Given the description of an element on the screen output the (x, y) to click on. 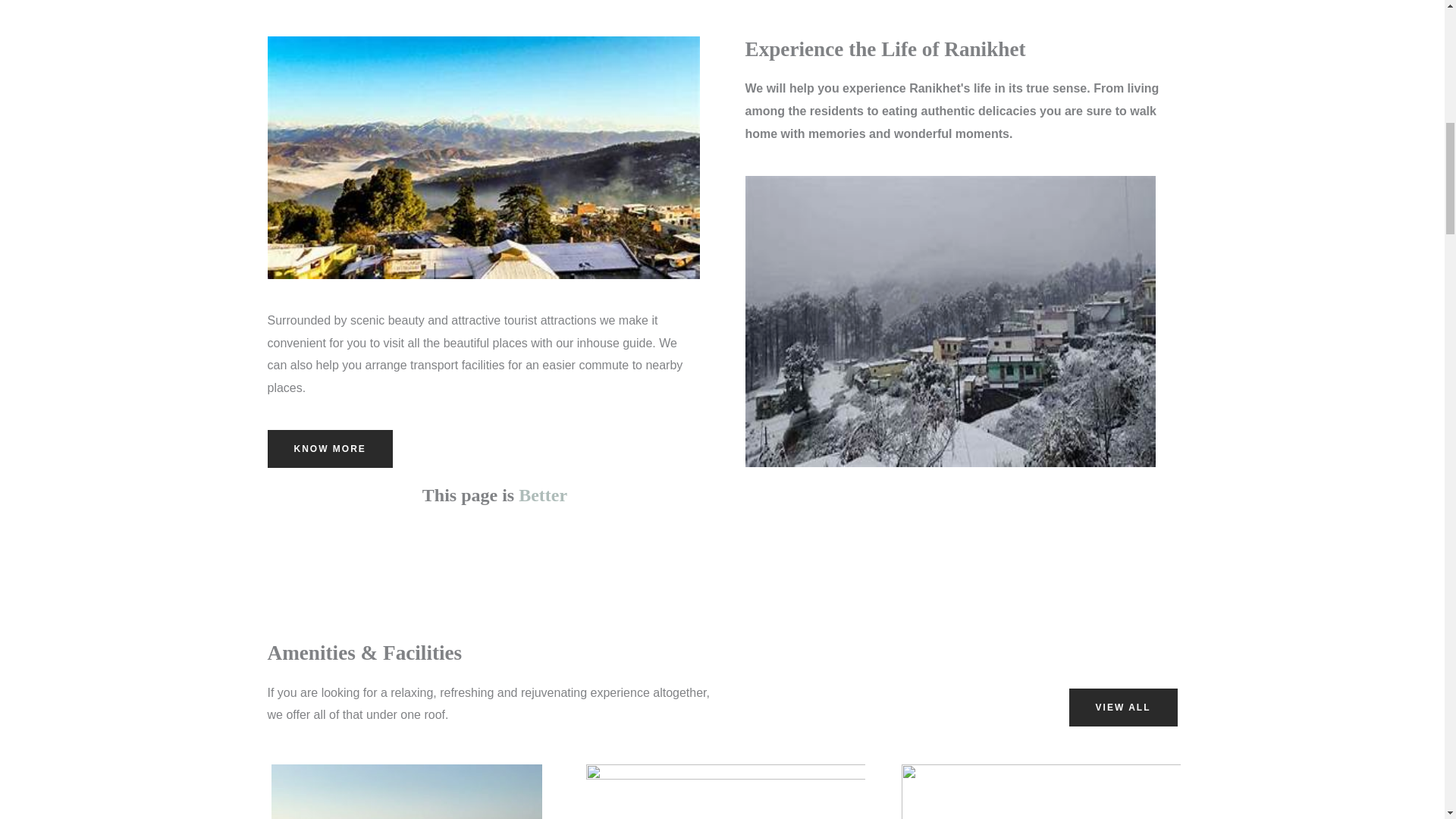
KNOW MORE (328, 448)
VIEW ALL (1122, 707)
